Given the description of an element on the screen output the (x, y) to click on. 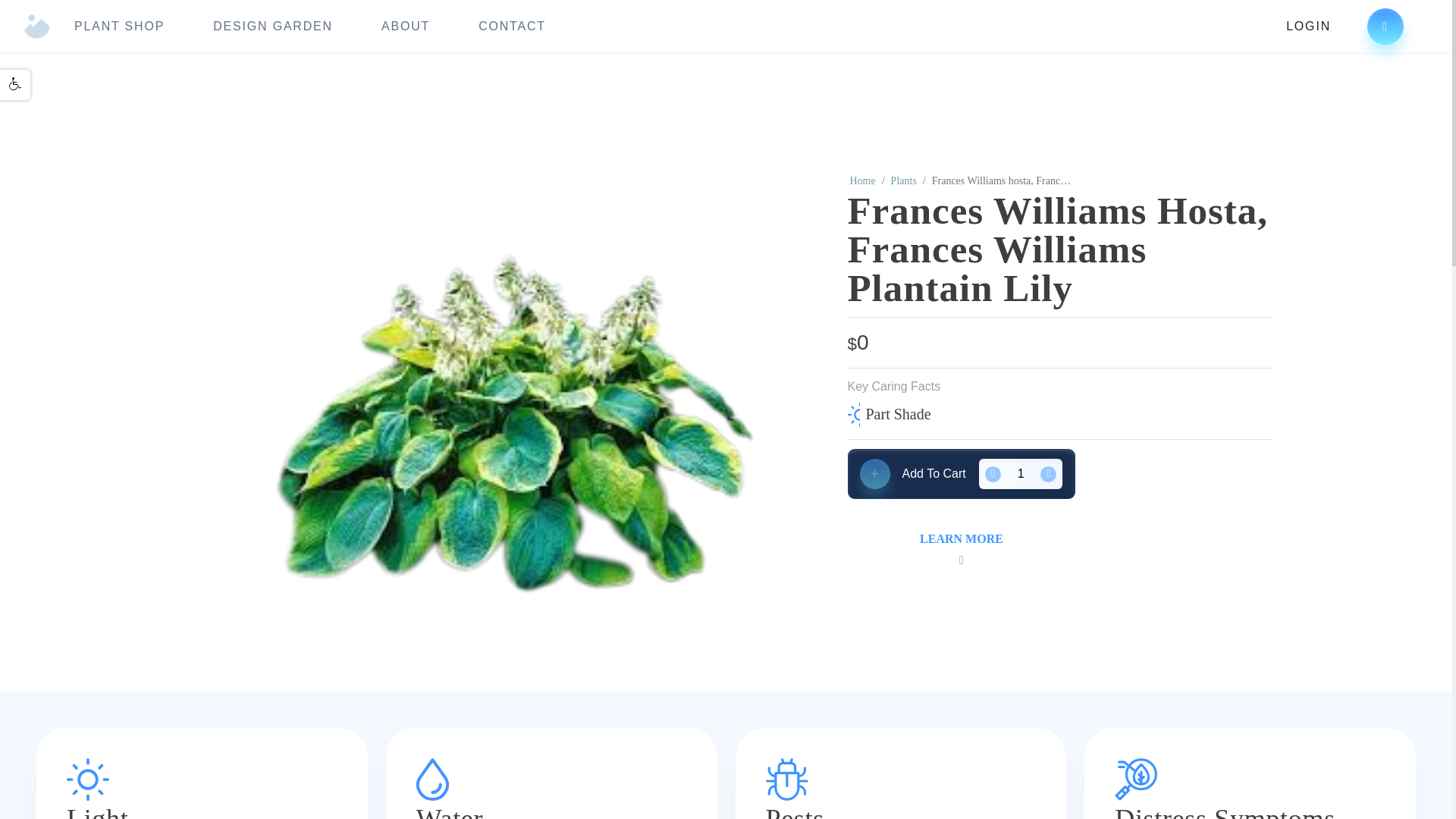
AngleDown (961, 560)
PLANT SHOP (119, 25)
ABOUT (405, 25)
1 (1020, 474)
Plants (904, 180)
LEARN MORE (961, 547)
CONTACT (512, 25)
Home (861, 180)
DESIGN GARDEN (272, 25)
LOGIN (1307, 26)
